Given the description of an element on the screen output the (x, y) to click on. 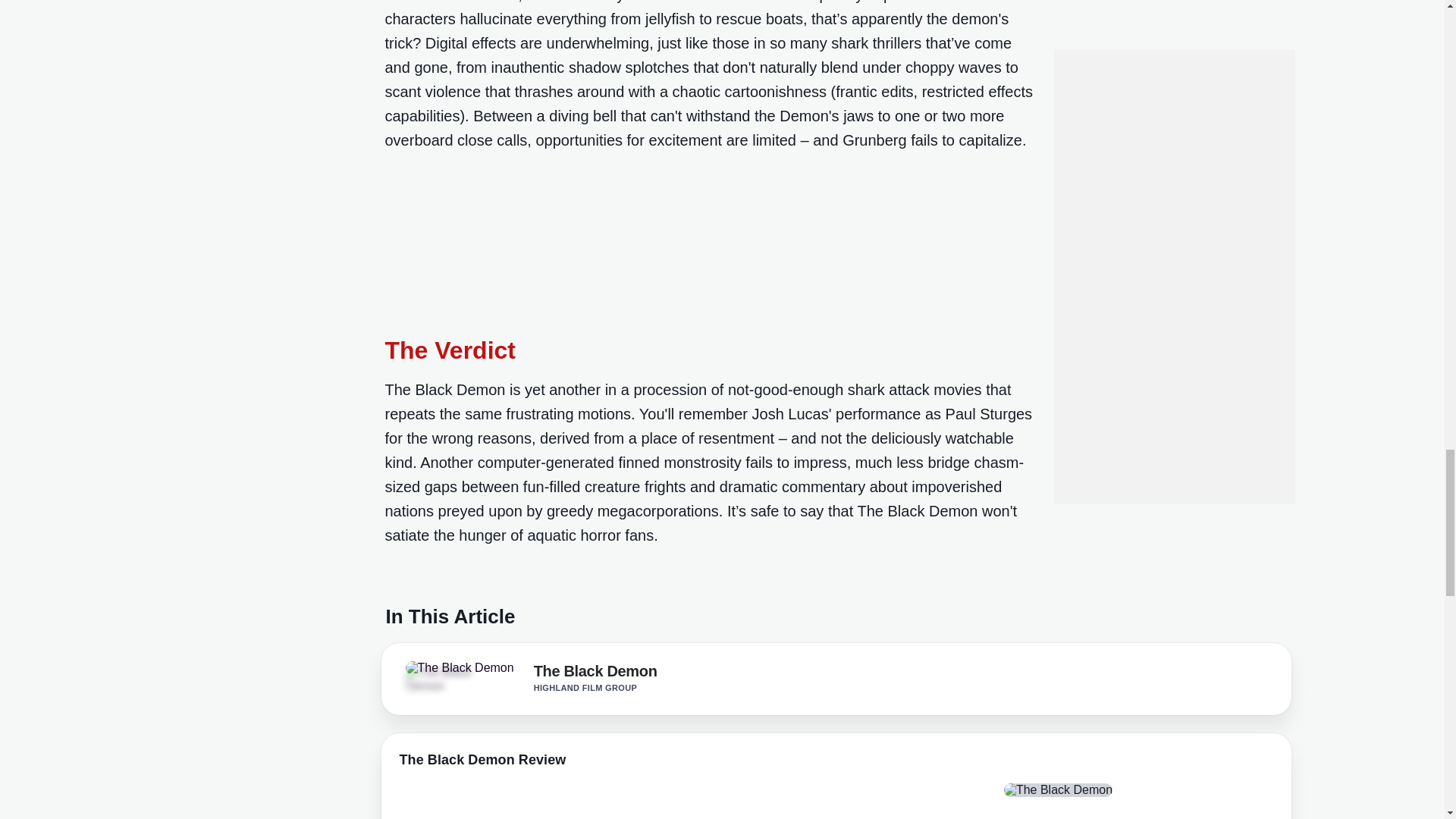
The Black Demon (458, 667)
The Black Demon (596, 673)
The Black Demon (448, 678)
The Black Demon (596, 673)
